Given the description of an element on the screen output the (x, y) to click on. 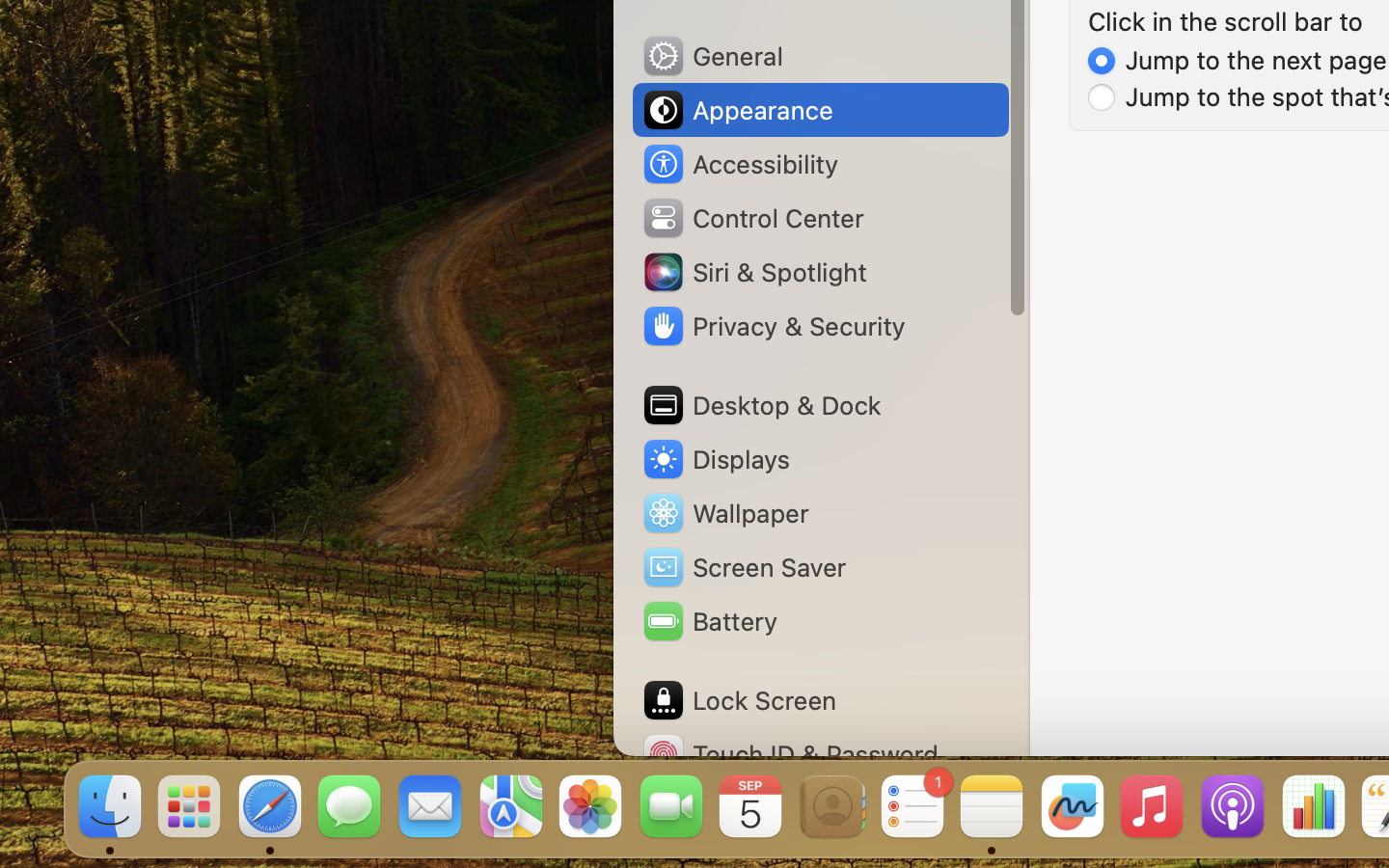
Displays Element type: AXStaticText (715, 458)
Siri & Spotlight Element type: AXStaticText (753, 271)
Control Center Element type: AXStaticText (752, 217)
Screen Saver Element type: AXStaticText (743, 566)
Wallpaper Element type: AXStaticText (724, 512)
